Given the description of an element on the screen output the (x, y) to click on. 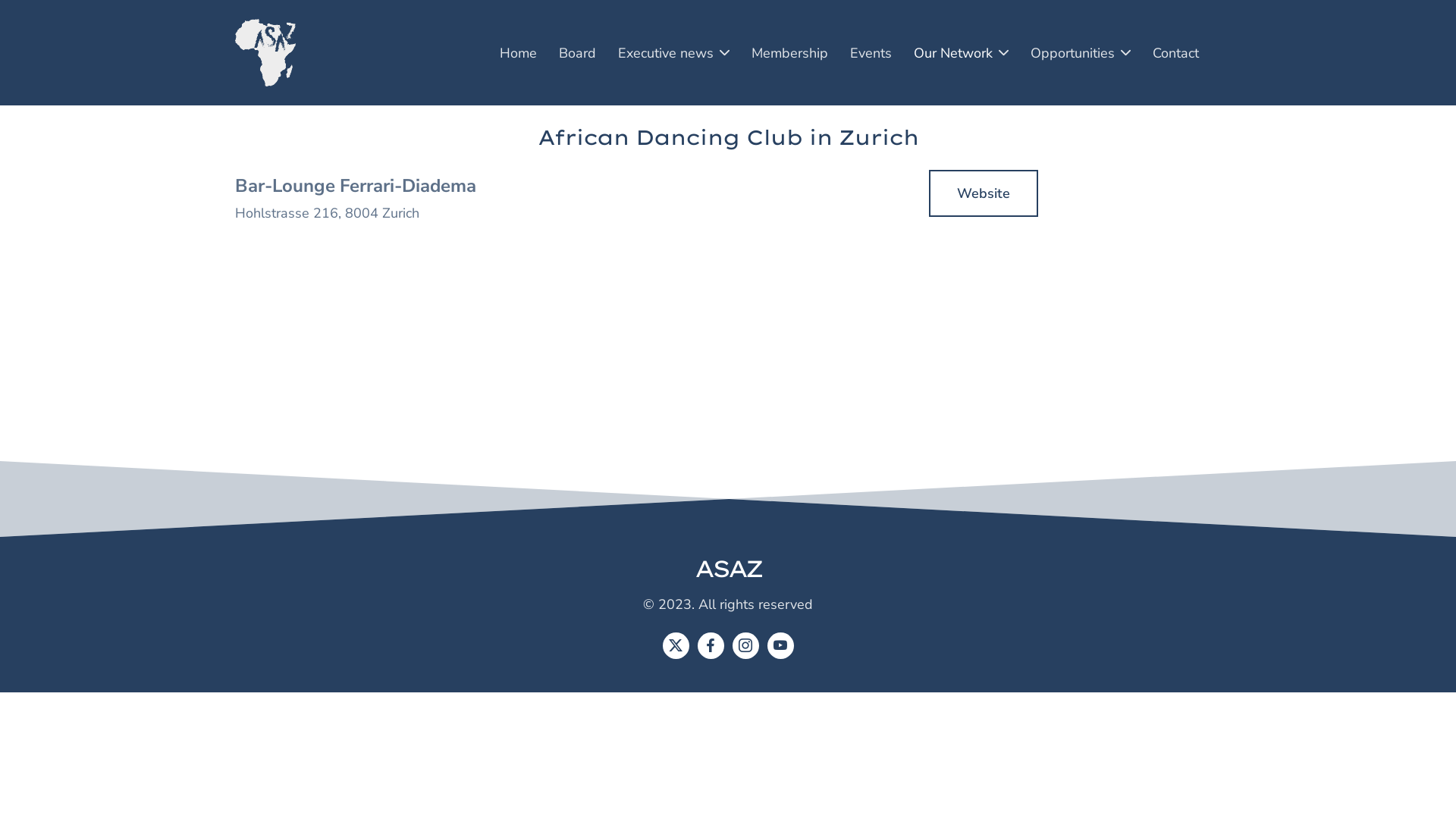
Membership Element type: text (789, 52)
Website Element type: text (983, 192)
ASAZ Element type: text (727, 568)
Board Element type: text (577, 52)
Contact Element type: text (1175, 52)
Home Element type: text (518, 52)
Events Element type: text (870, 52)
